Given the description of an element on the screen output the (x, y) to click on. 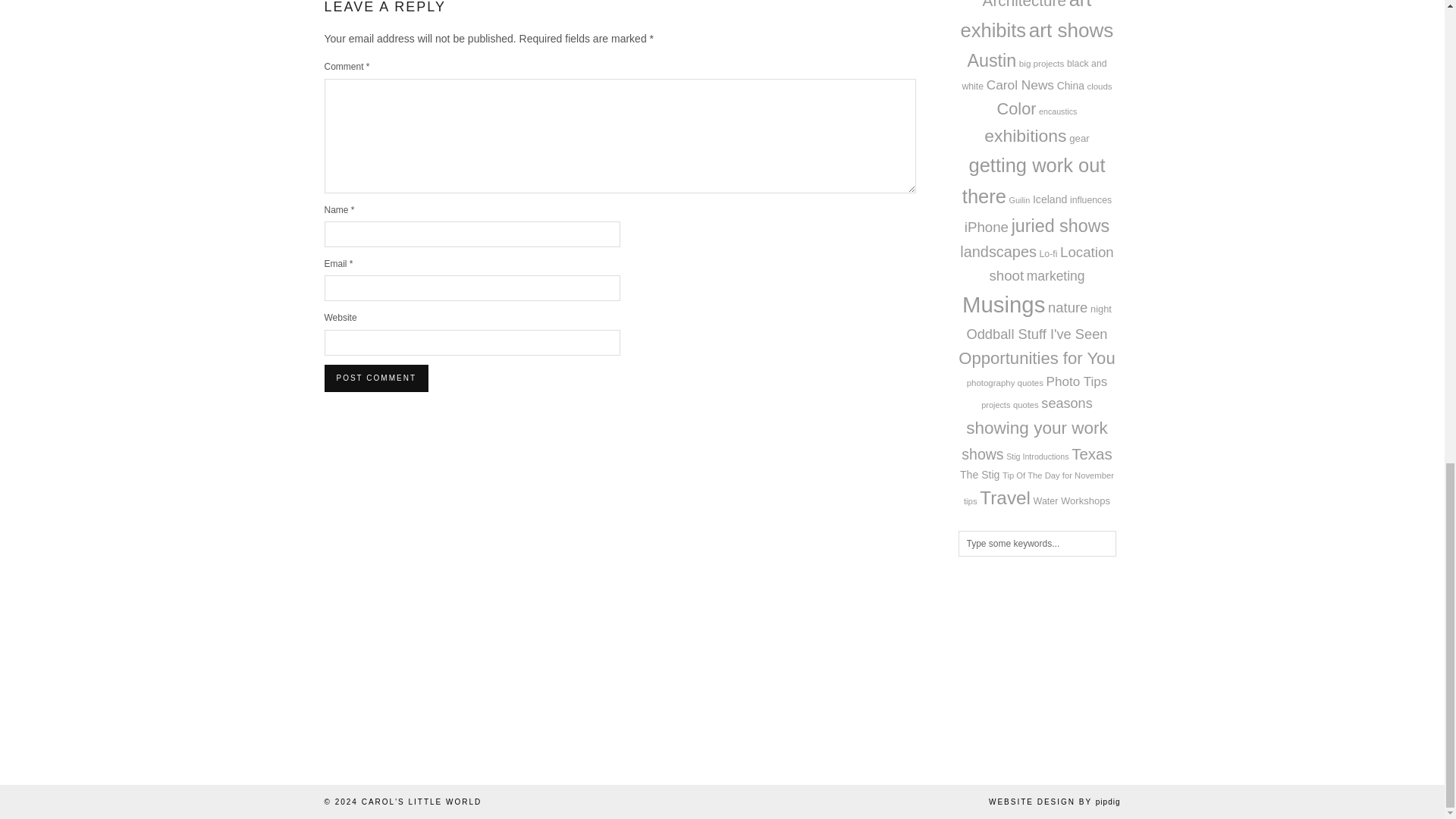
Post Comment (376, 378)
Post Comment (376, 378)
